Given the description of an element on the screen output the (x, y) to click on. 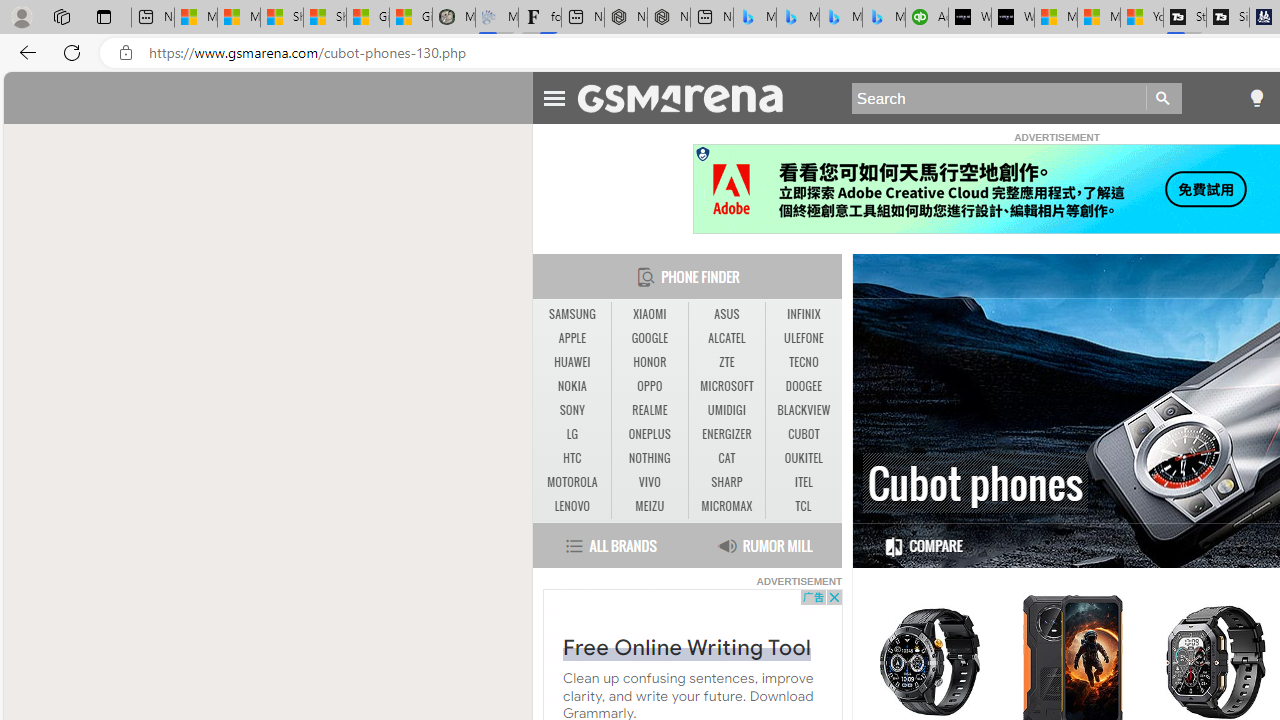
REALME (649, 411)
NOTHING (649, 458)
NOTHING (649, 457)
XIAOMI (649, 314)
BLACKVIEW (803, 410)
OPPO (649, 386)
ULEFONE (803, 338)
OUKITEL (803, 457)
NOKIA (571, 385)
Microsoft Bing Travel - Shangri-La Hotel Bangkok (883, 17)
Toggle Navigation (553, 95)
MICROSOFT (726, 386)
HTC (571, 457)
ONEPLUS (649, 434)
